Given the description of an element on the screen output the (x, y) to click on. 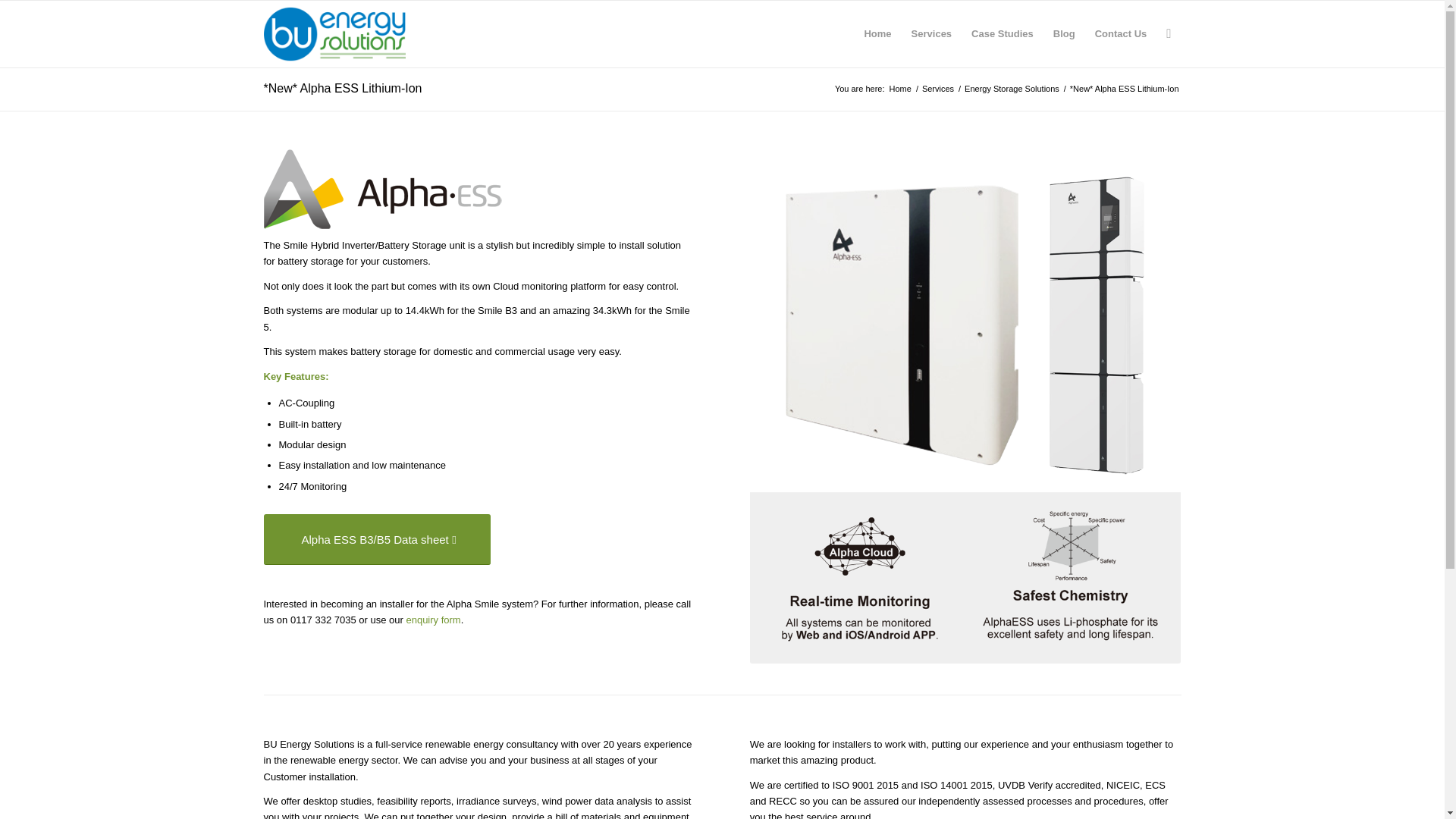
Alpha-ess (382, 189)
Case Studies (1001, 33)
Services (938, 89)
enquiry form (433, 619)
Energy Storage Solutions (1011, 89)
Energy Storage Solutions (1011, 89)
Services (938, 89)
Contact Us (1120, 33)
Services (931, 33)
BU Energy Solutions (900, 89)
BU-Energy-Logo-RGB-XL (334, 33)
Home (900, 89)
